Given the description of an element on the screen output the (x, y) to click on. 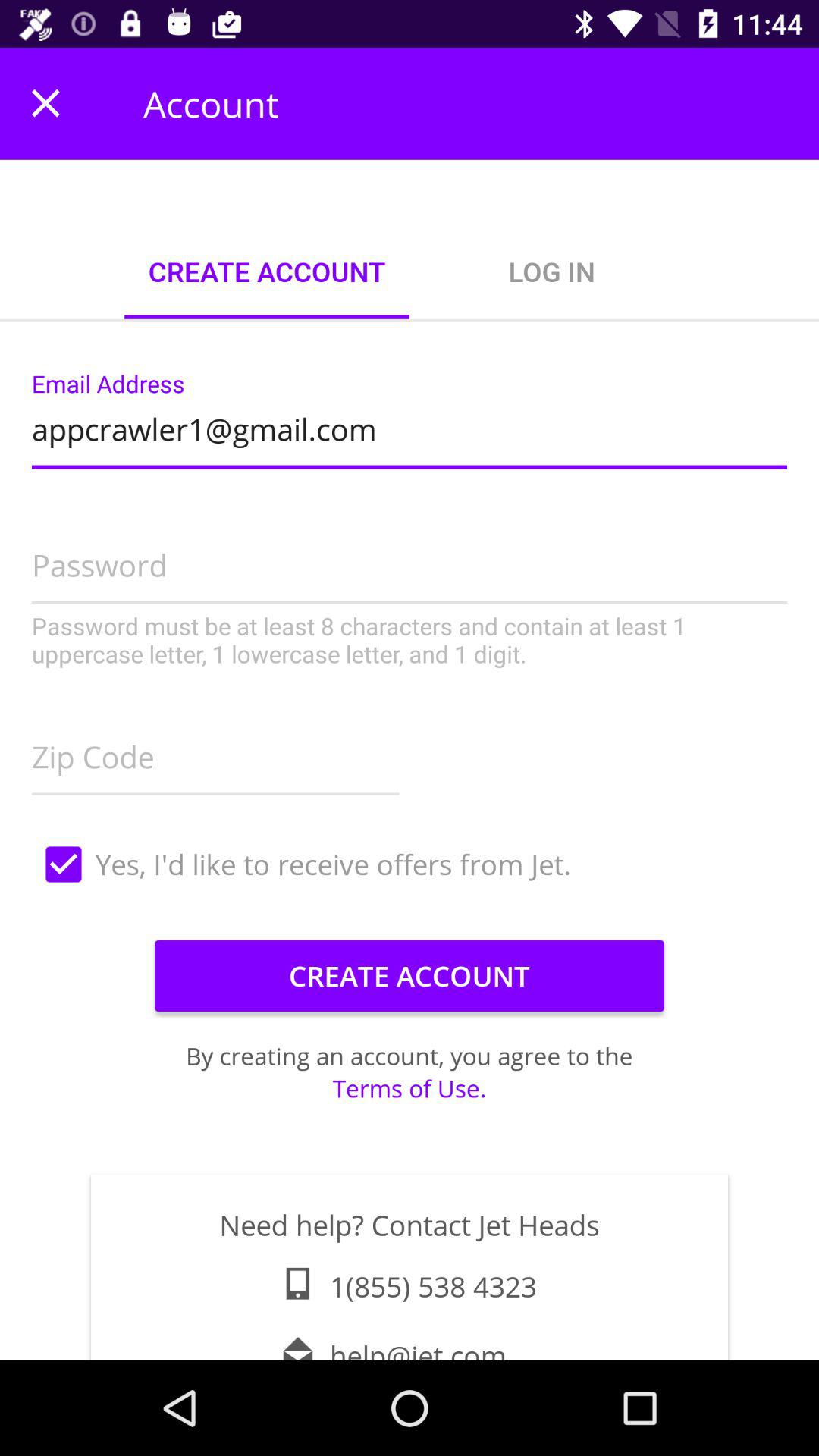
choose item above the create account (409, 864)
